Given the description of an element on the screen output the (x, y) to click on. 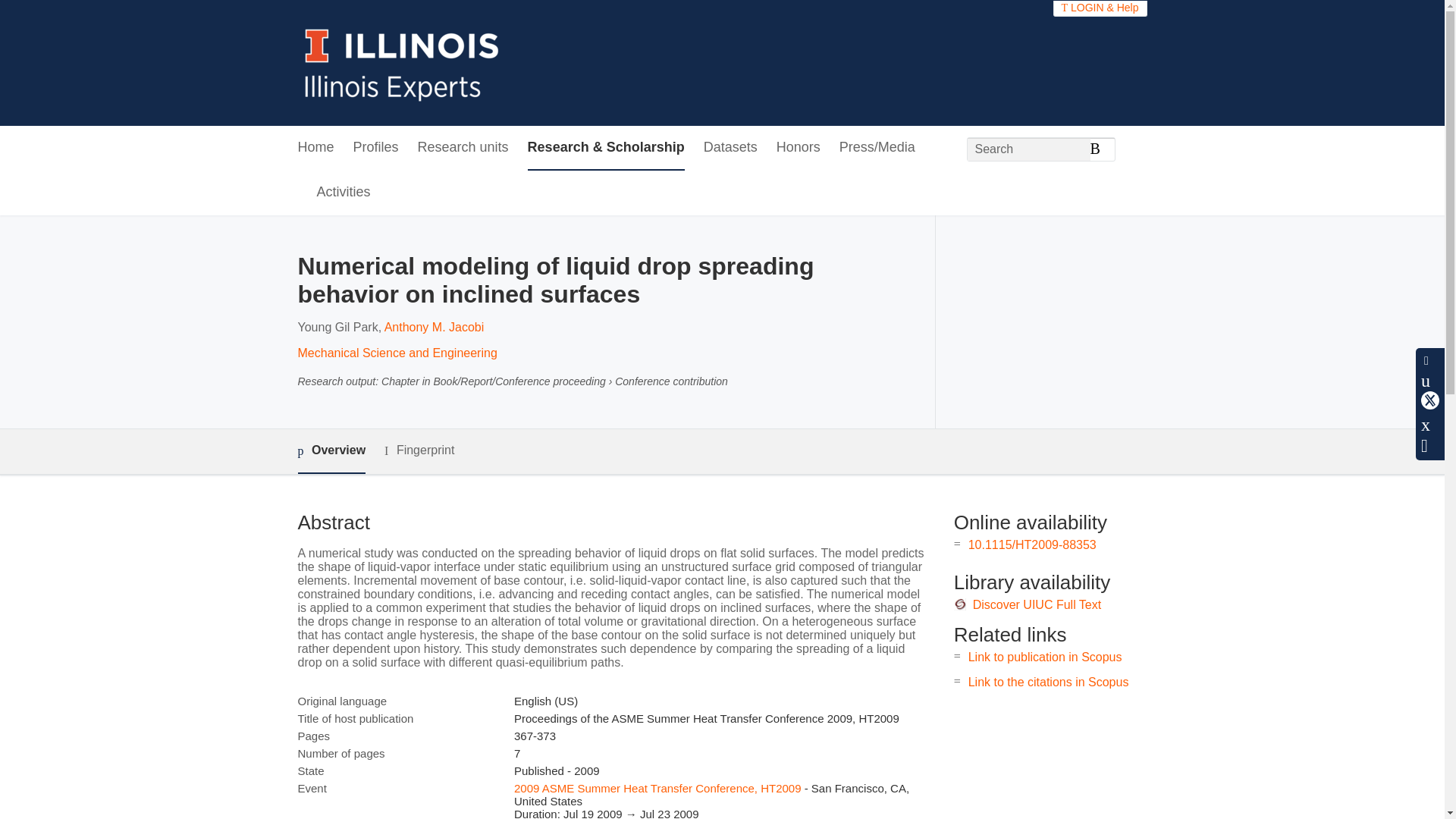
Link to the citations in Scopus (1048, 681)
Research units (462, 148)
Profiles (375, 148)
Datasets (730, 148)
2009 ASME Summer Heat Transfer Conference, HT2009 (657, 788)
Mechanical Science and Engineering (396, 352)
Fingerprint (419, 450)
Honors (798, 148)
Discover UIUC Full Text (1037, 604)
